Given the description of an element on the screen output the (x, y) to click on. 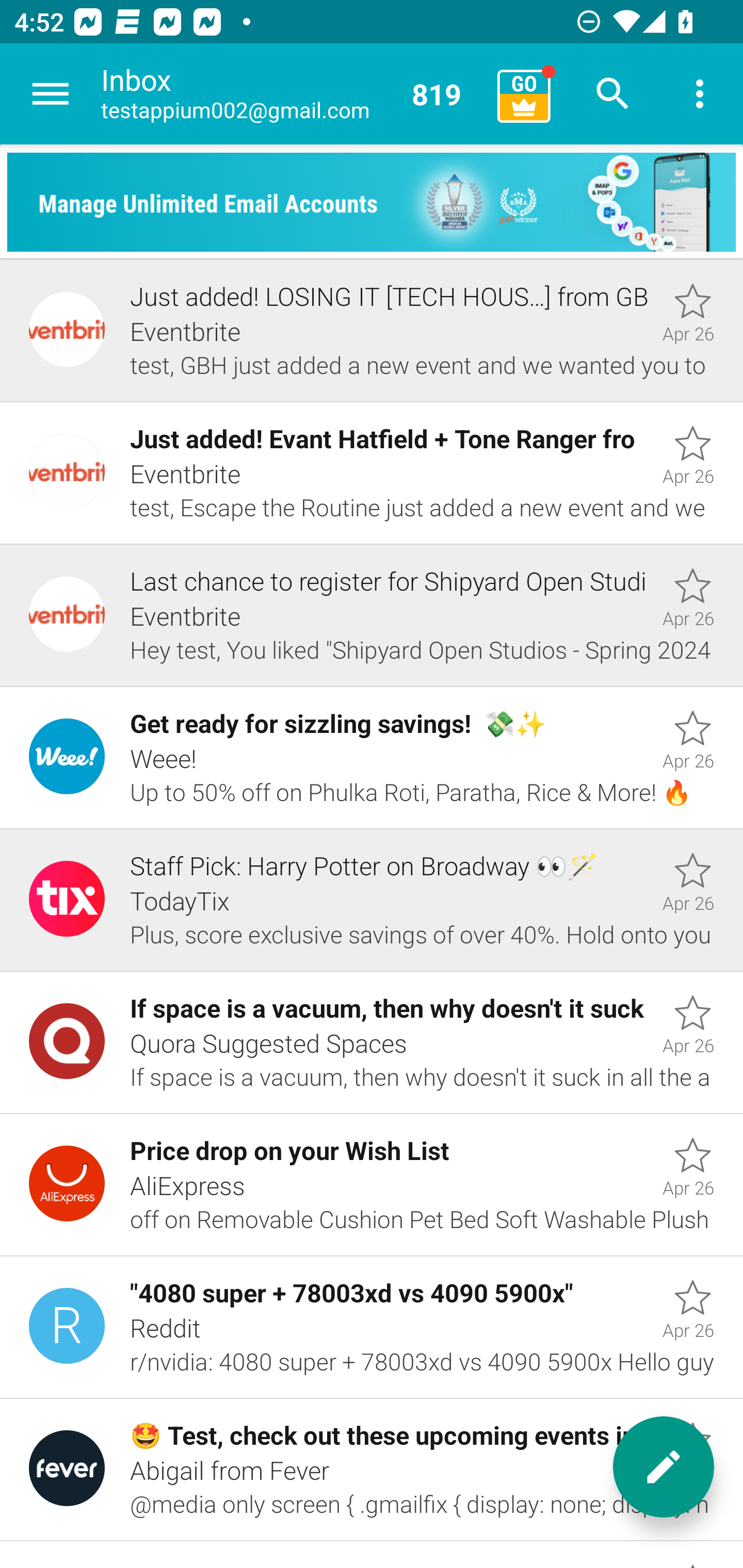
Navigate up (50, 93)
Inbox testappium002@gmail.com 819 (291, 93)
Search (612, 93)
More options (699, 93)
New message (663, 1466)
